Given the description of an element on the screen output the (x, y) to click on. 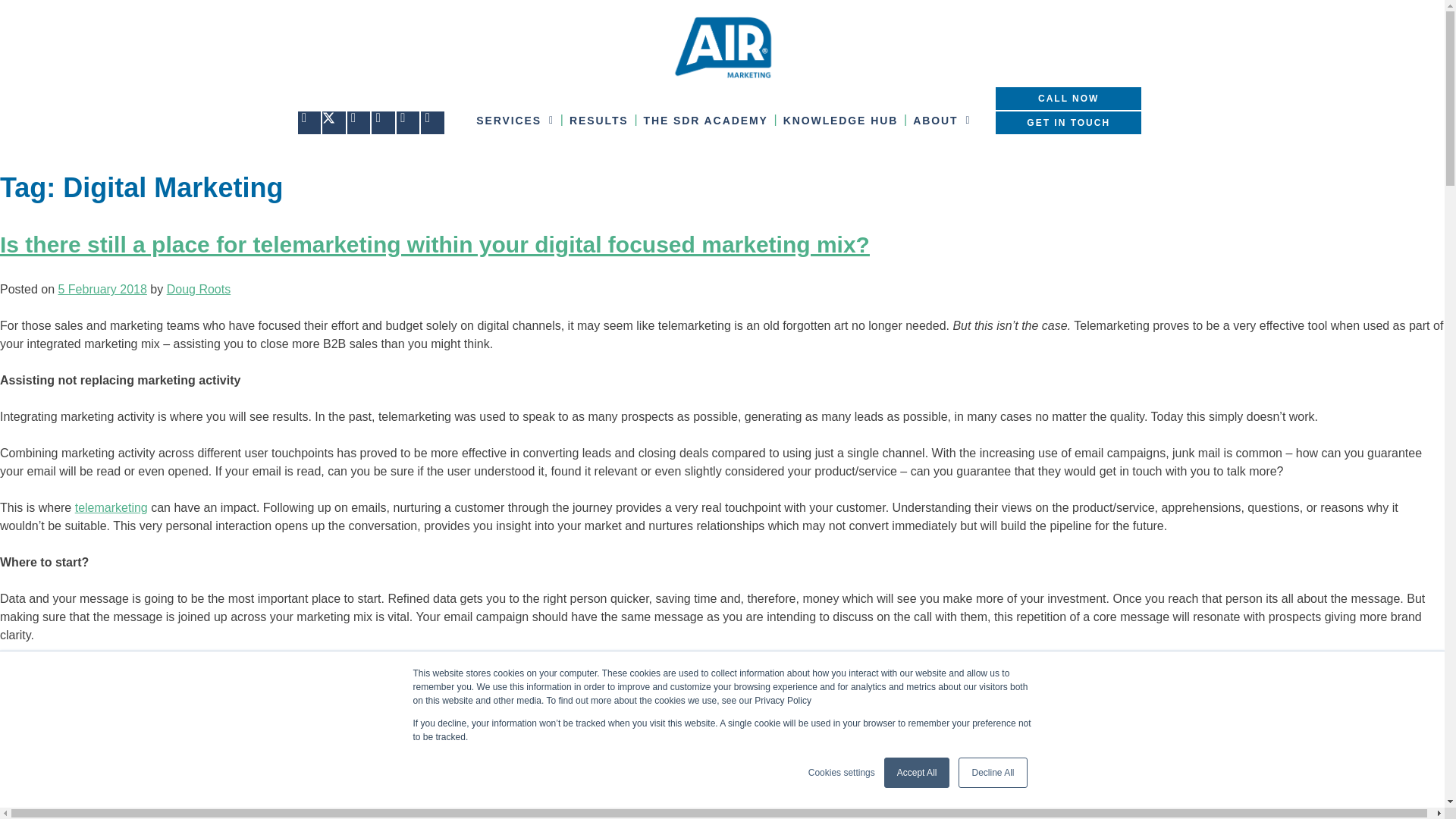
KNOWLEDGE HUB (840, 120)
ABOUT (942, 120)
Decline All (992, 772)
Accept All (916, 772)
RESULTS (598, 120)
Cookies settings (841, 772)
THE SDR ACADEMY (705, 120)
SERVICES (515, 120)
